Given the description of an element on the screen output the (x, y) to click on. 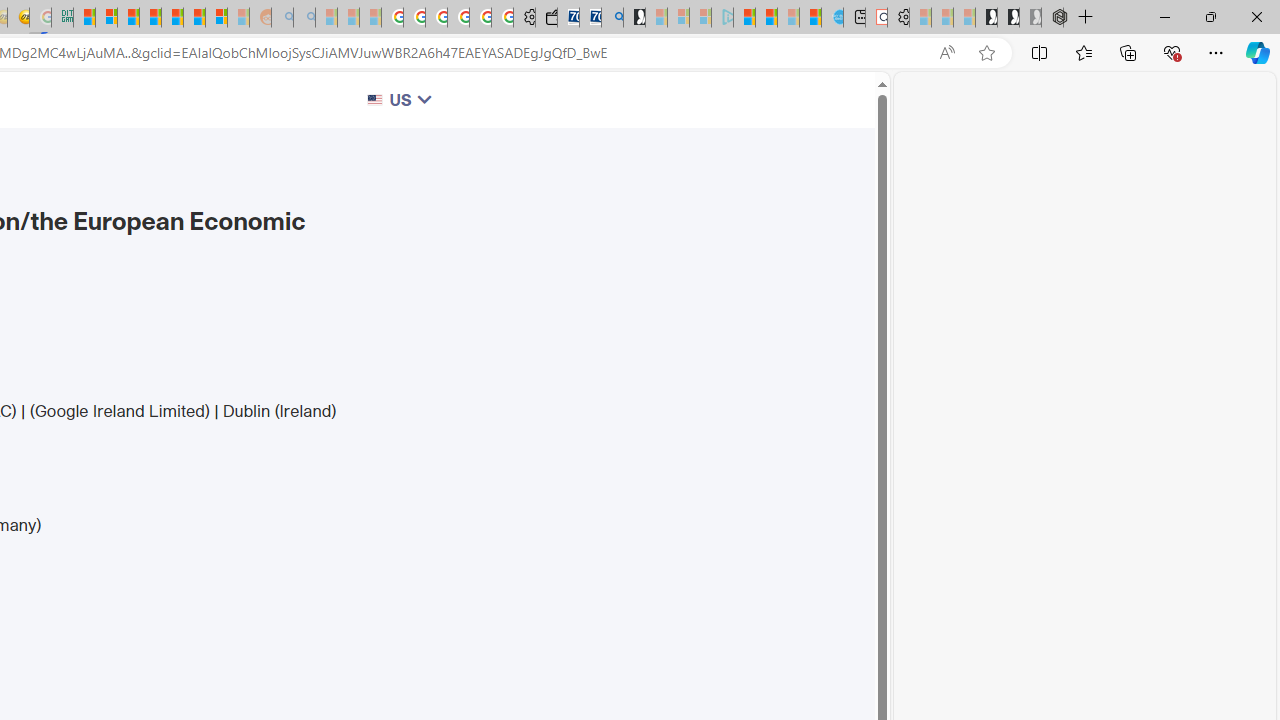
Student Loan Update: Forgiveness Program Ends This Month (150, 17)
